Given the description of an element on the screen output the (x, y) to click on. 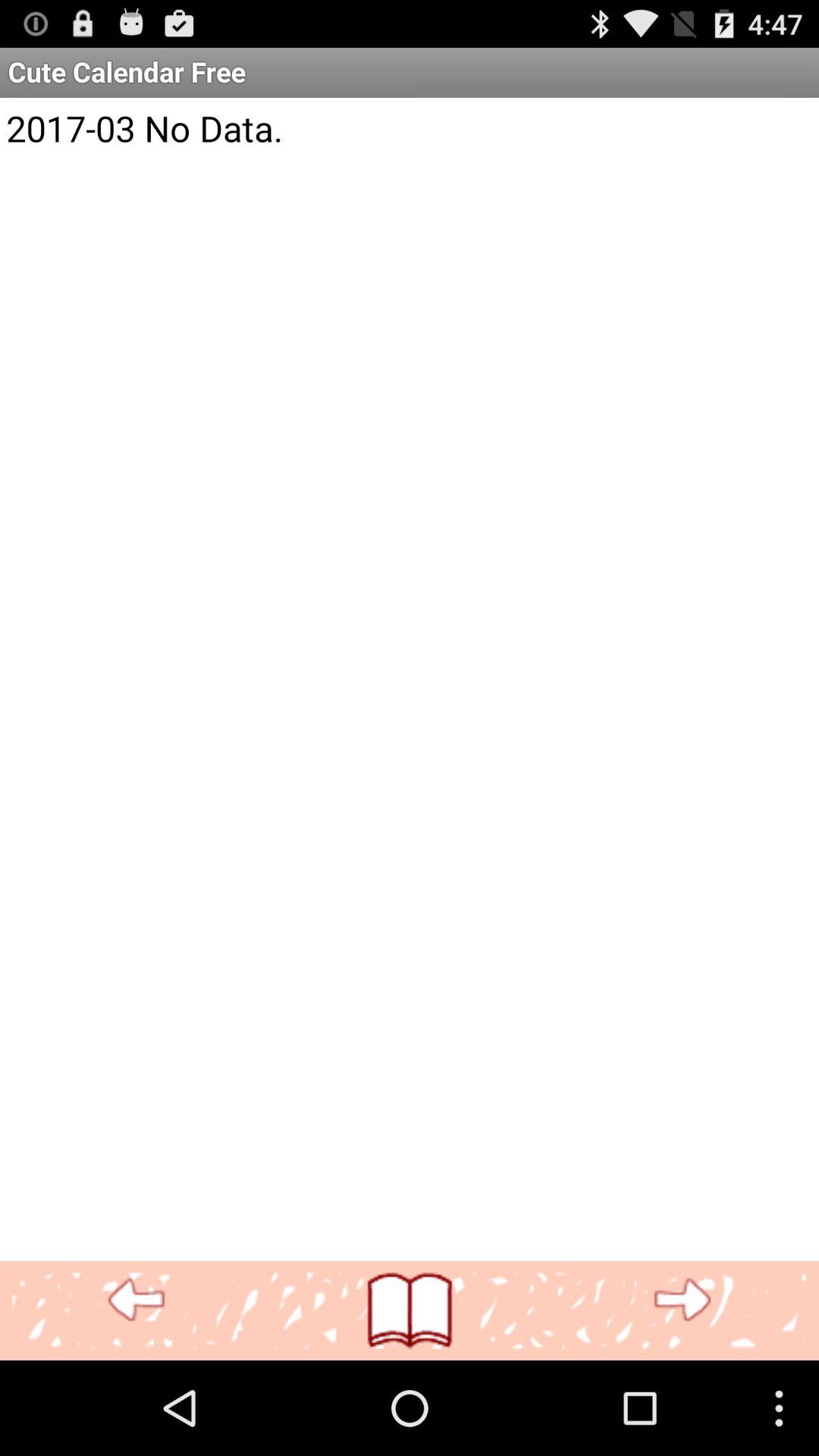
turn off the item below 2017 03 no icon (682, 1300)
